Given the description of an element on the screen output the (x, y) to click on. 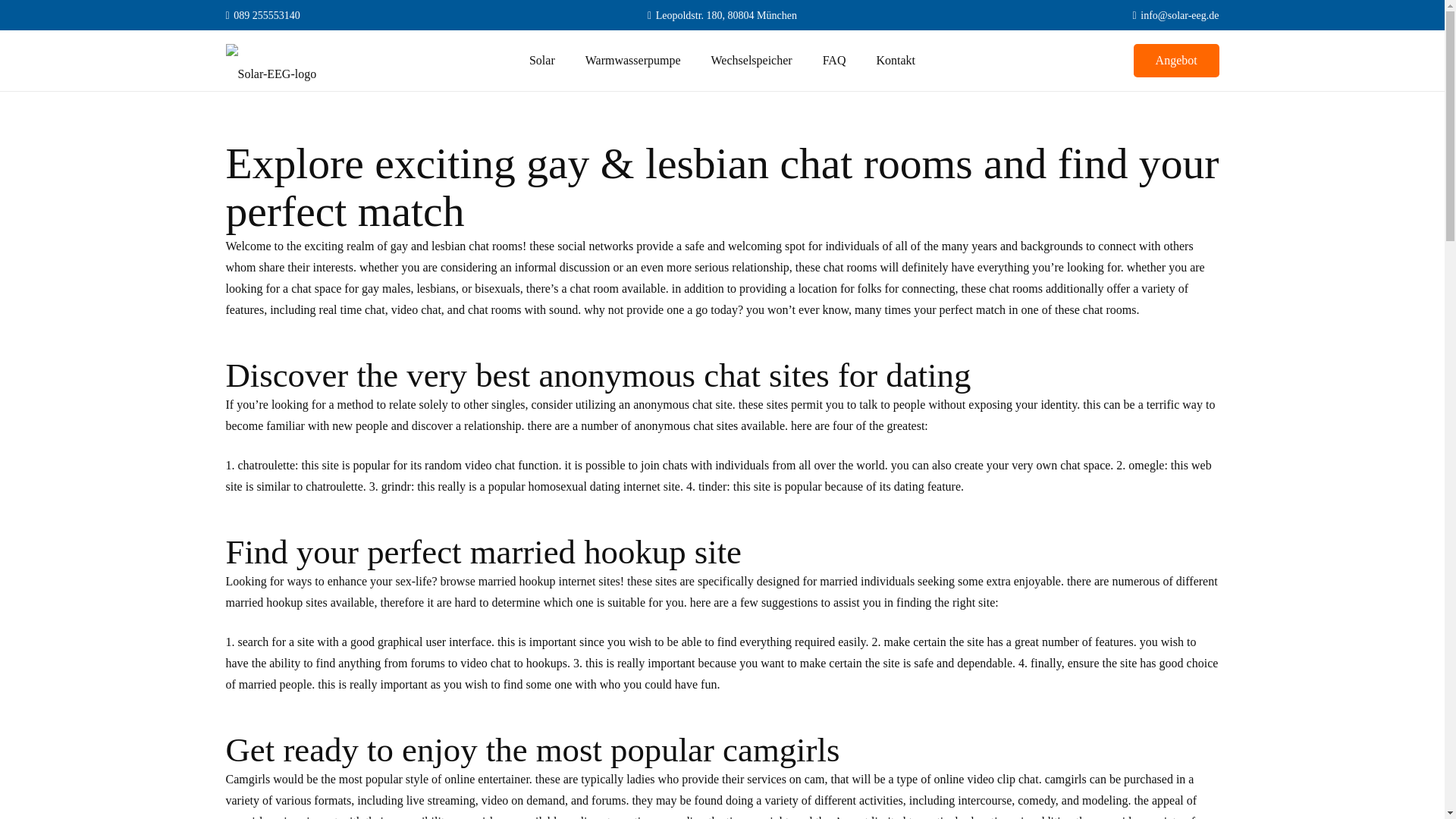
Wechselspeicher (751, 60)
Warmwasserpumpe (632, 60)
Angebot (1177, 60)
089 255553140 (262, 14)
Solar (541, 60)
Kontakt (895, 60)
